Given the description of an element on the screen output the (x, y) to click on. 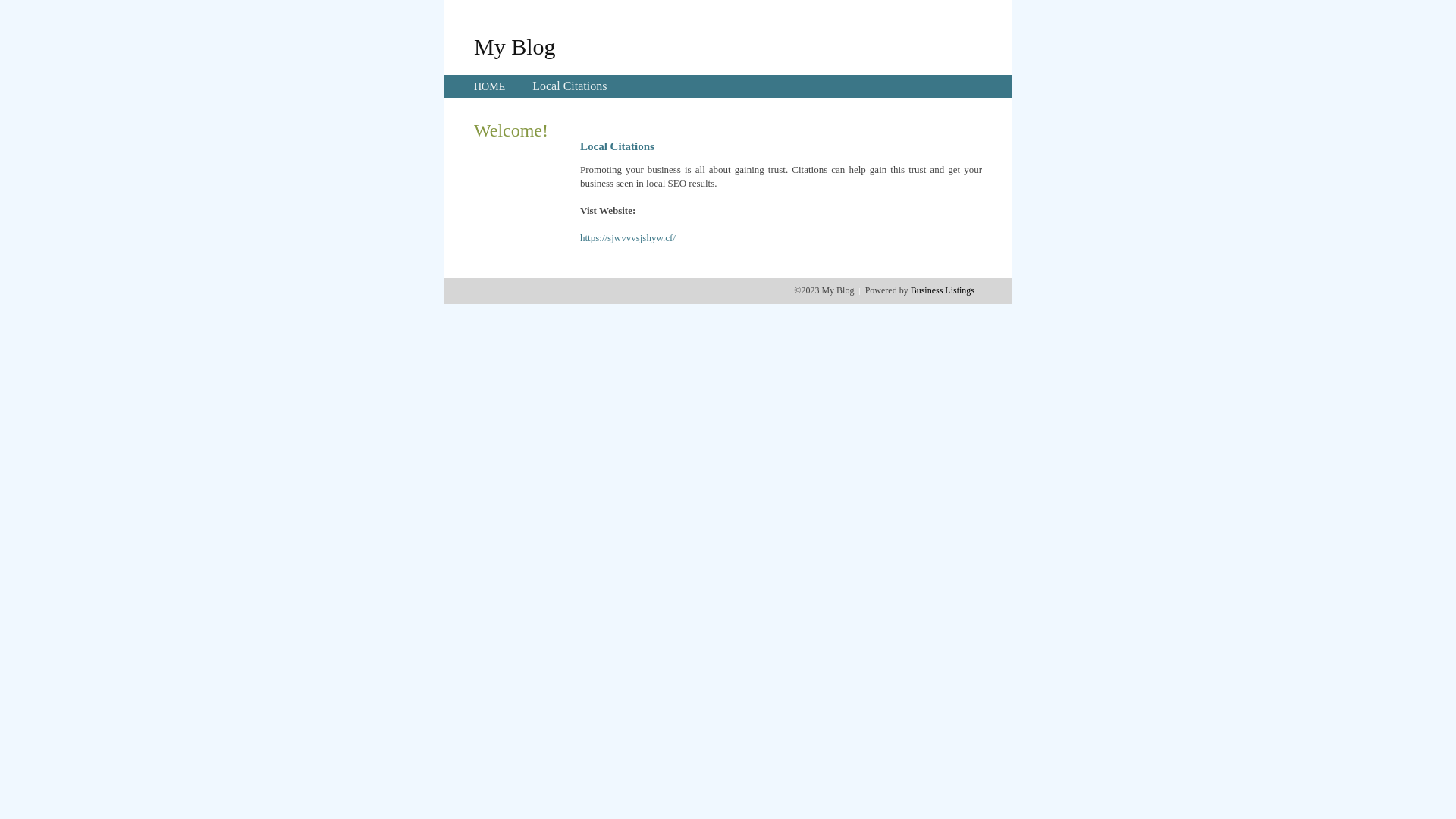
https://sjwvvvsjshyw.cf/ Element type: text (627, 237)
My Blog Element type: text (514, 46)
Local Citations Element type: text (569, 85)
HOME Element type: text (489, 86)
Business Listings Element type: text (942, 290)
